Given the description of an element on the screen output the (x, y) to click on. 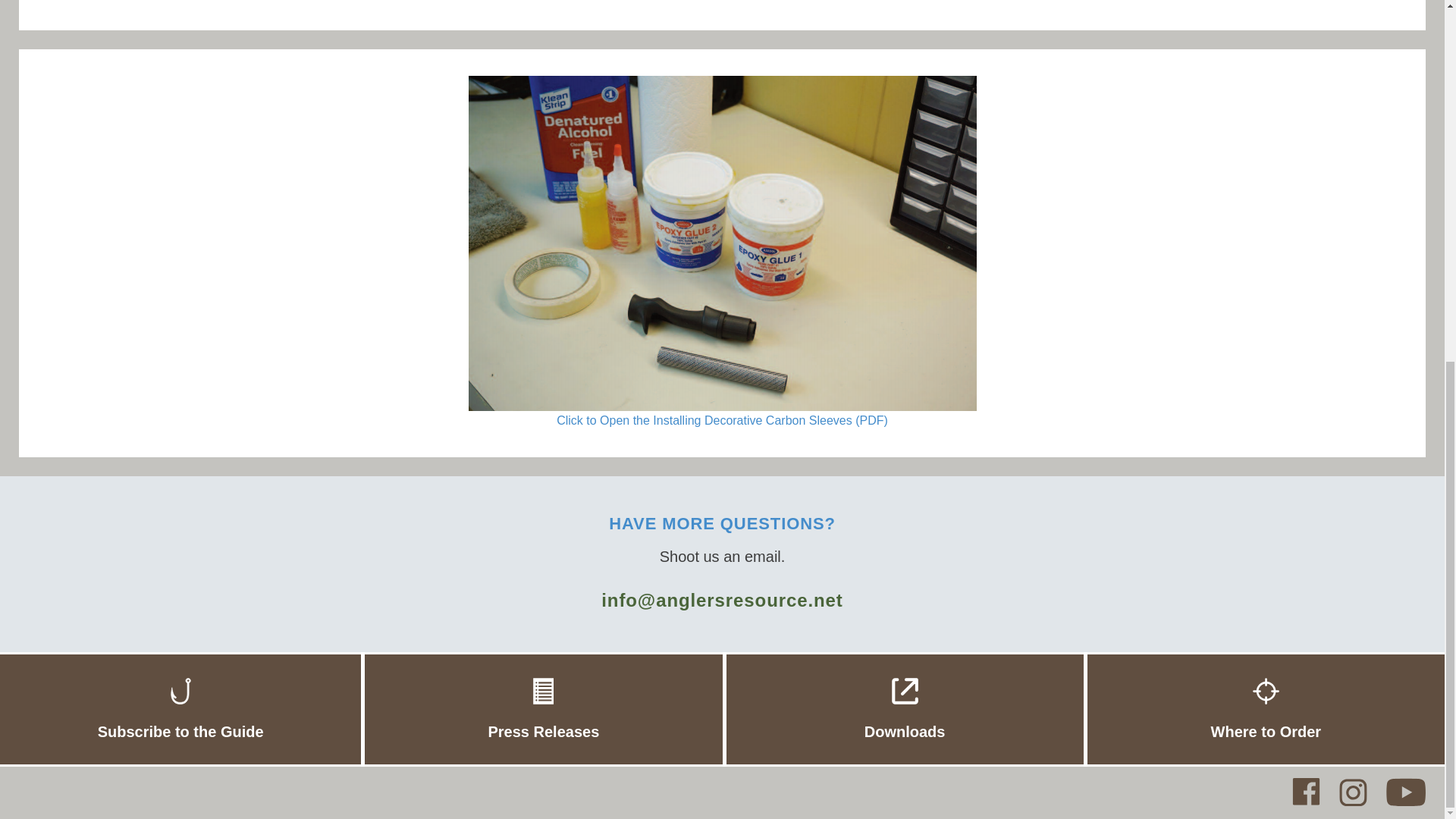
Anglers on Youtube (1405, 791)
Anglers on Facebook (1306, 791)
Anglers on Instagram (1353, 791)
